Given the description of an element on the screen output the (x, y) to click on. 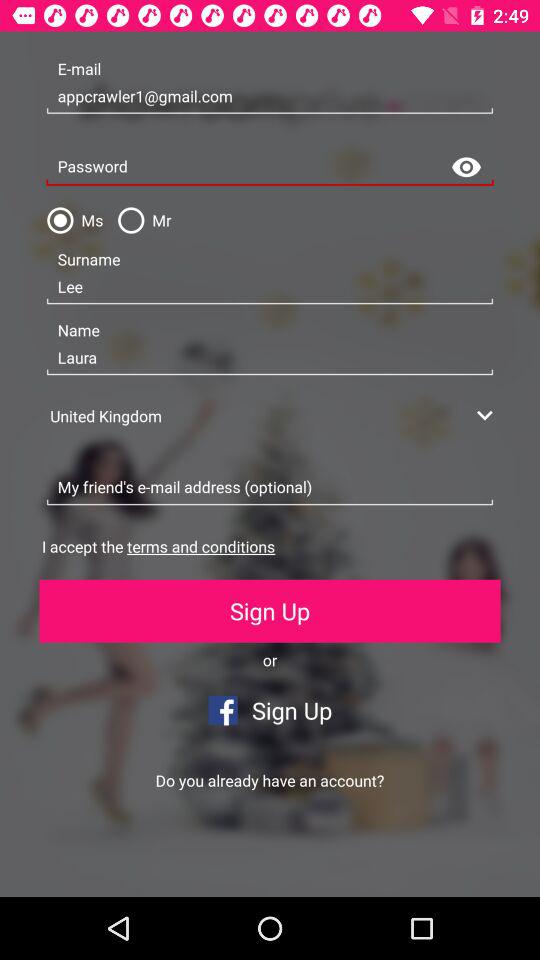
enter email address (270, 488)
